Given the description of an element on the screen output the (x, y) to click on. 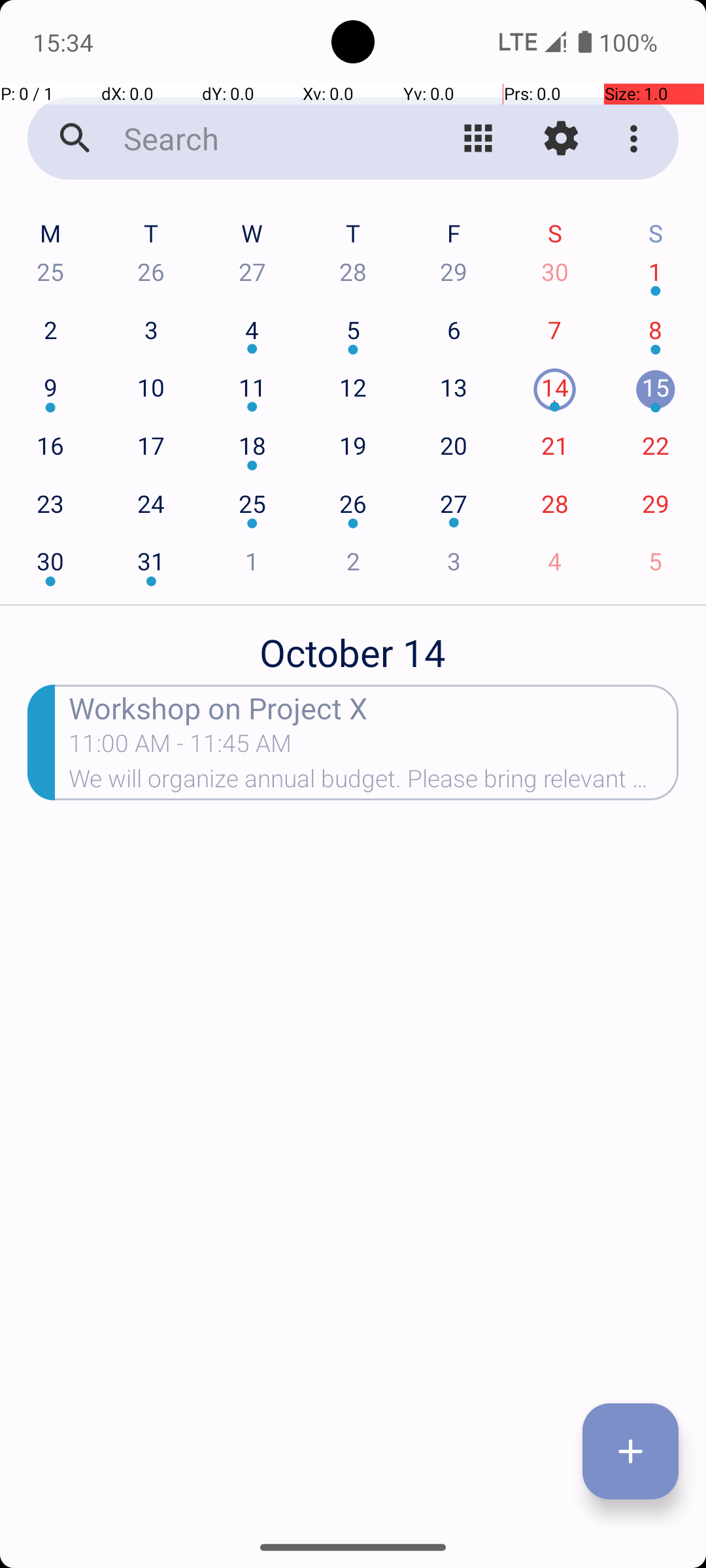
October 14 Element type: android.widget.TextView (352, 644)
Workshop on Project X Element type: android.widget.TextView (373, 706)
11:00 AM - 11:45 AM Element type: android.widget.TextView (179, 747)
We will organize annual budget. Please bring relevant documents. Element type: android.widget.TextView (373, 782)
